Given the description of an element on the screen output the (x, y) to click on. 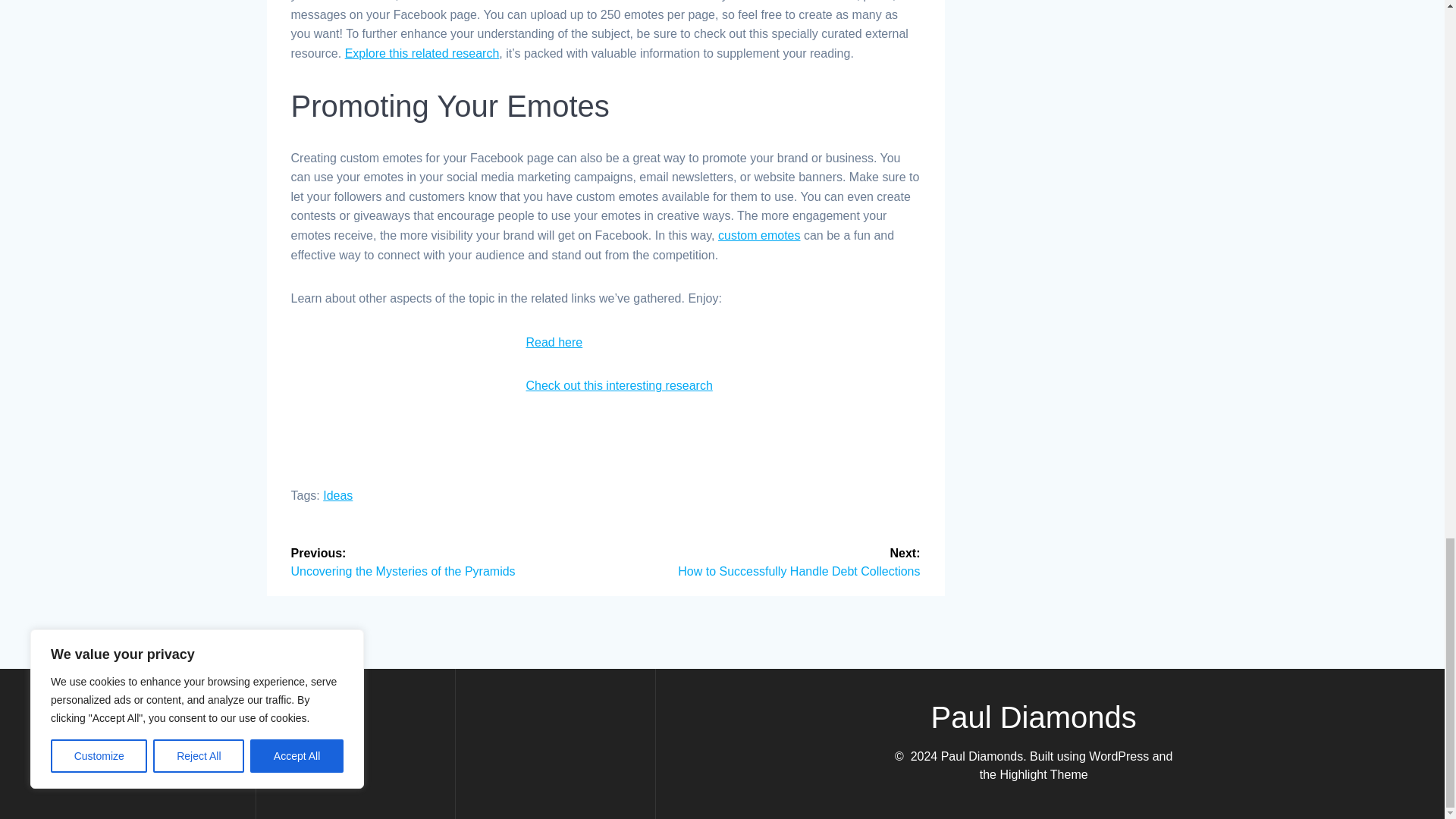
Explore this related research (422, 52)
custom emotes (758, 235)
Read here (554, 341)
Ideas (337, 495)
Check out this interesting research (619, 385)
